Given the description of an element on the screen output the (x, y) to click on. 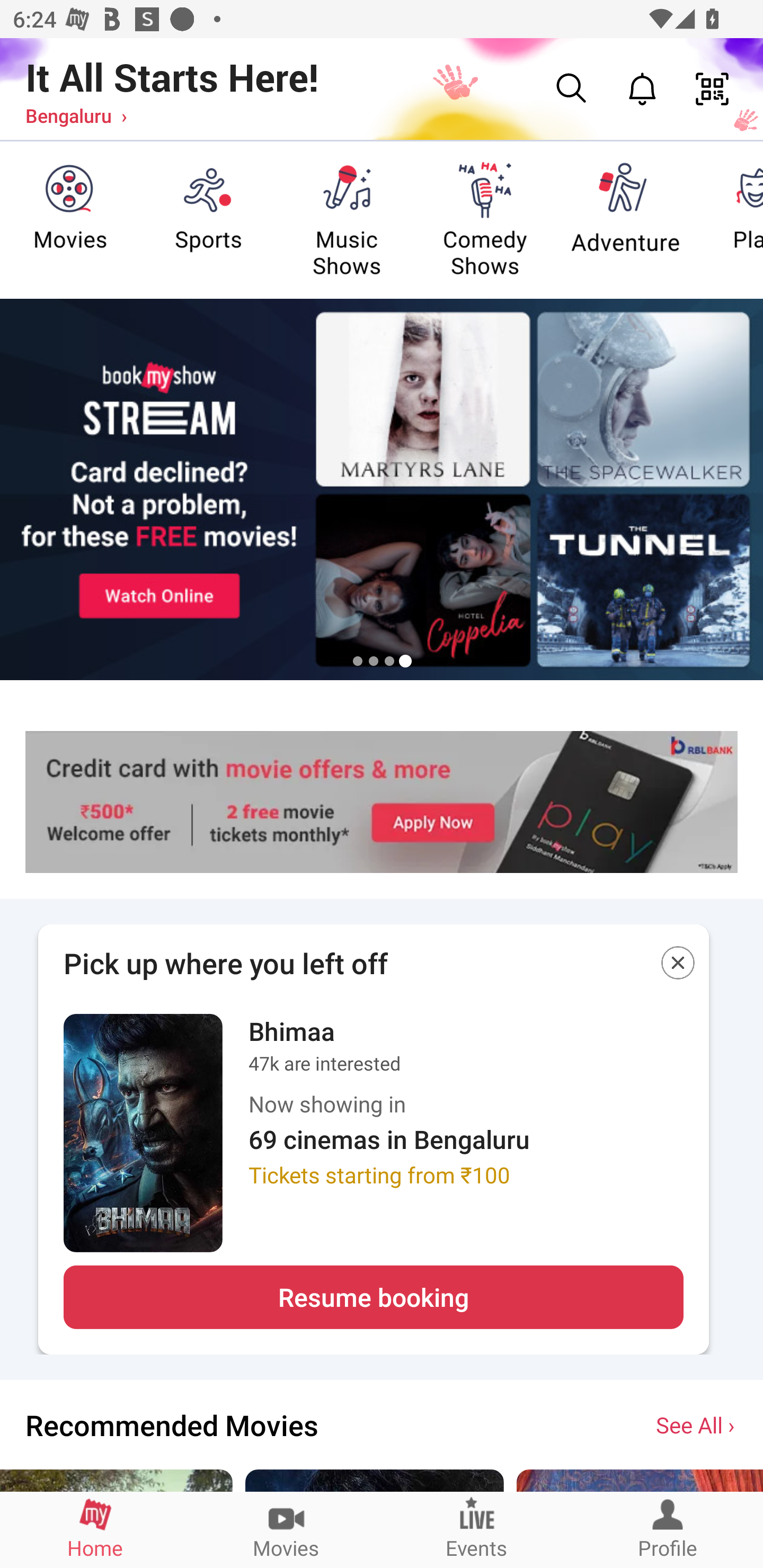
Bengaluru  › (76, 114)
  (678, 966)
Resume booking (373, 1297)
See All › (696, 1424)
Home (95, 1529)
Movies (285, 1529)
Events (476, 1529)
Profile (667, 1529)
